Given the description of an element on the screen output the (x, y) to click on. 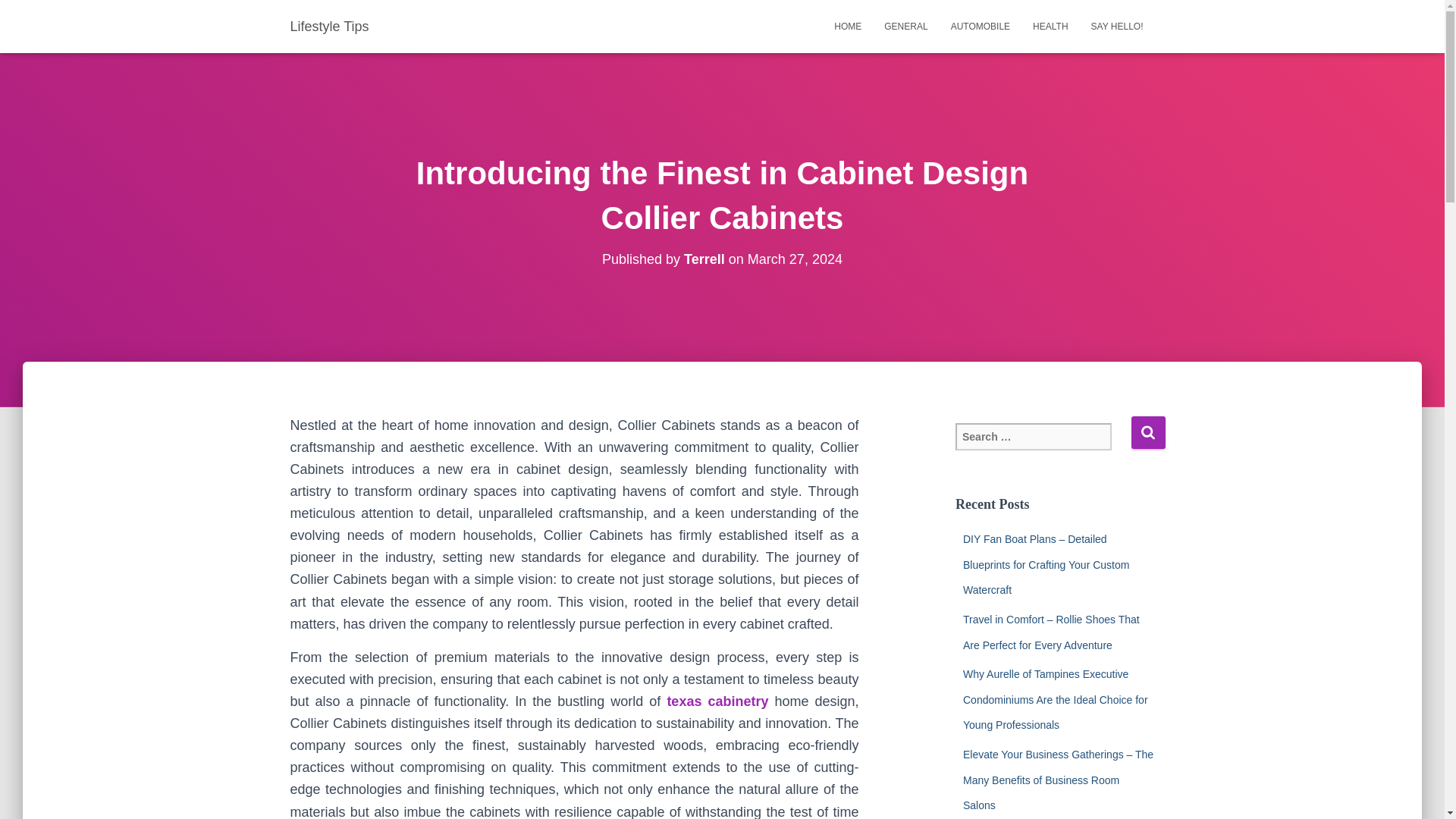
Search (1148, 432)
HOME (847, 26)
texas cabinetry (717, 701)
Say Hello! (1117, 26)
Terrell (704, 258)
Automobile (980, 26)
Home (847, 26)
Health (1050, 26)
Lifestyle Tips (329, 26)
GENERAL (905, 26)
AUTOMOBILE (980, 26)
Search (1148, 432)
Lifestyle Tips (329, 26)
General (905, 26)
